Given the description of an element on the screen output the (x, y) to click on. 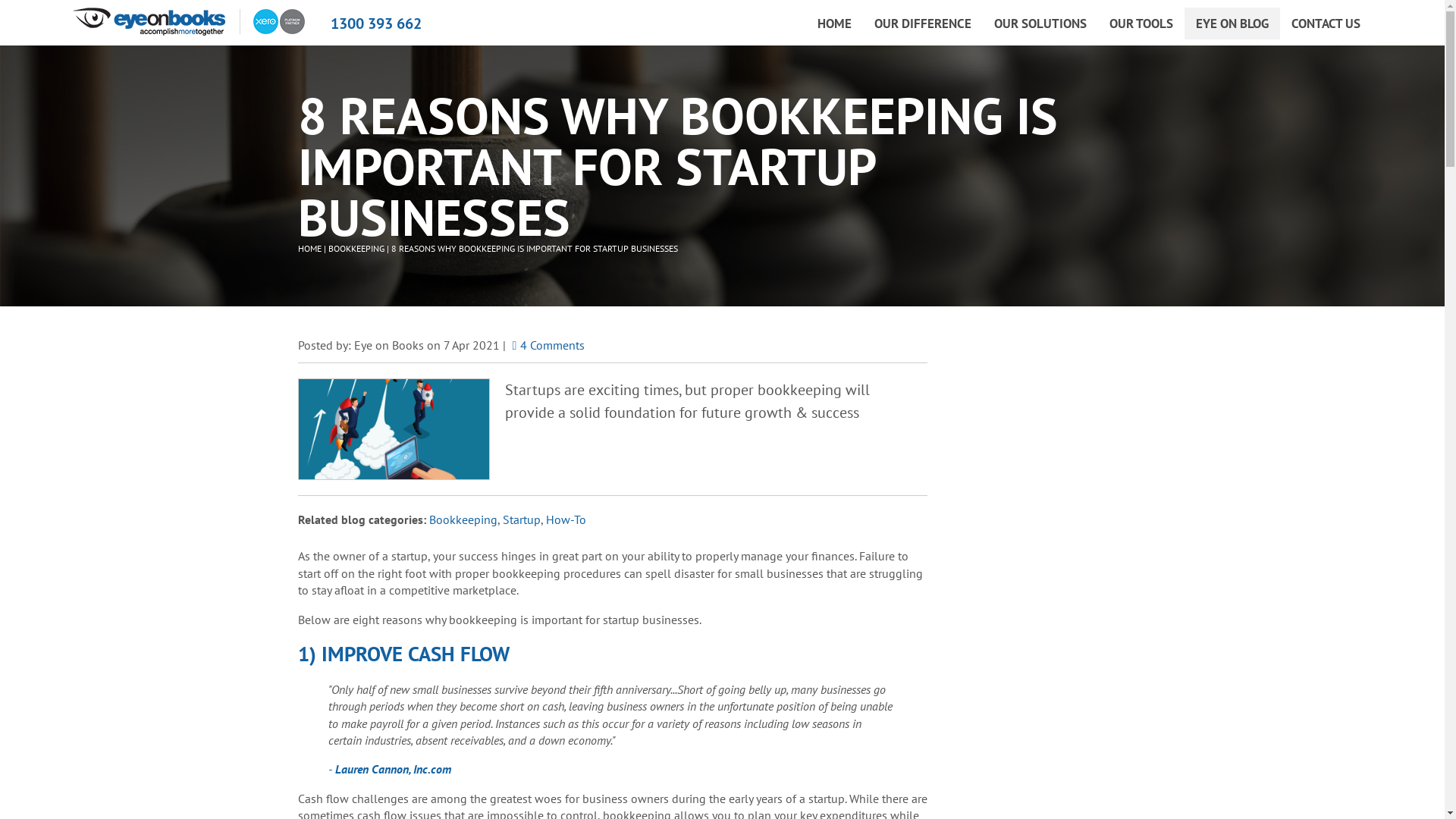
EYE ON BLOG Element type: text (1232, 23)
Startup Element type: text (520, 519)
CONTACT US Element type: text (1325, 23)
BOOKKEEPING Element type: text (355, 248)
OUR DIFFERENCE Element type: text (922, 23)
HOME Element type: text (834, 23)
Bookkeeping Element type: text (463, 519)
Go to the Xero website, external link Element type: hover (271, 21)
OUR TOOLS Element type: text (1141, 23)
HOME Element type: text (308, 248)
4 Comments Element type: text (546, 344)
1300 393 662 Element type: text (375, 21)
Click here to go home Element type: hover (148, 21)
OUR SOLUTIONS Element type: text (1040, 23)
- Lauren Cannon, Inc.com  Element type: text (390, 768)
How-To Element type: text (566, 519)
